Given the description of an element on the screen output the (x, y) to click on. 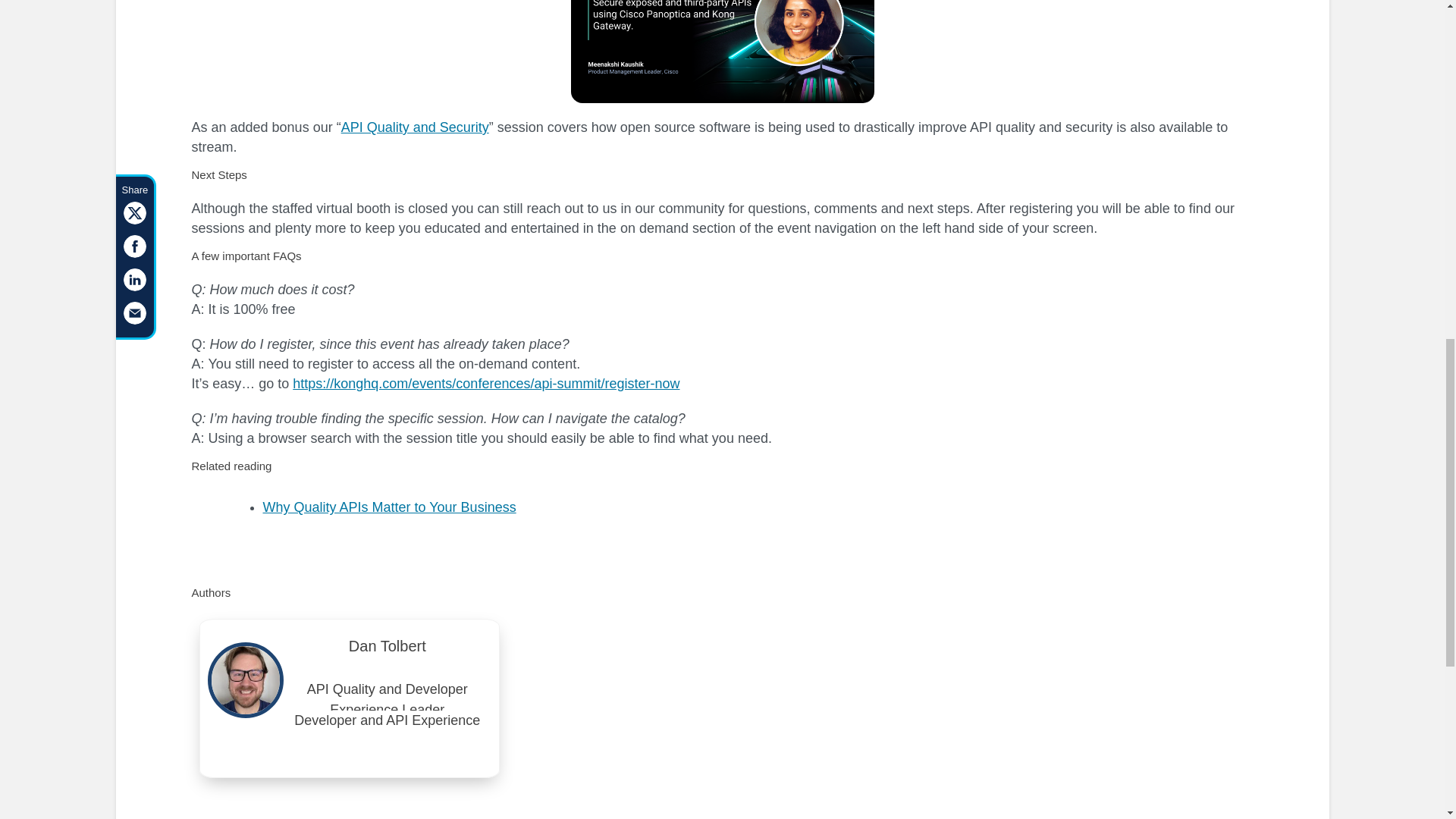
Why Quality APIs Matter to Your Business (388, 507)
Dan Tolbert (387, 649)
API Quality and Security (414, 127)
